Given the description of an element on the screen output the (x, y) to click on. 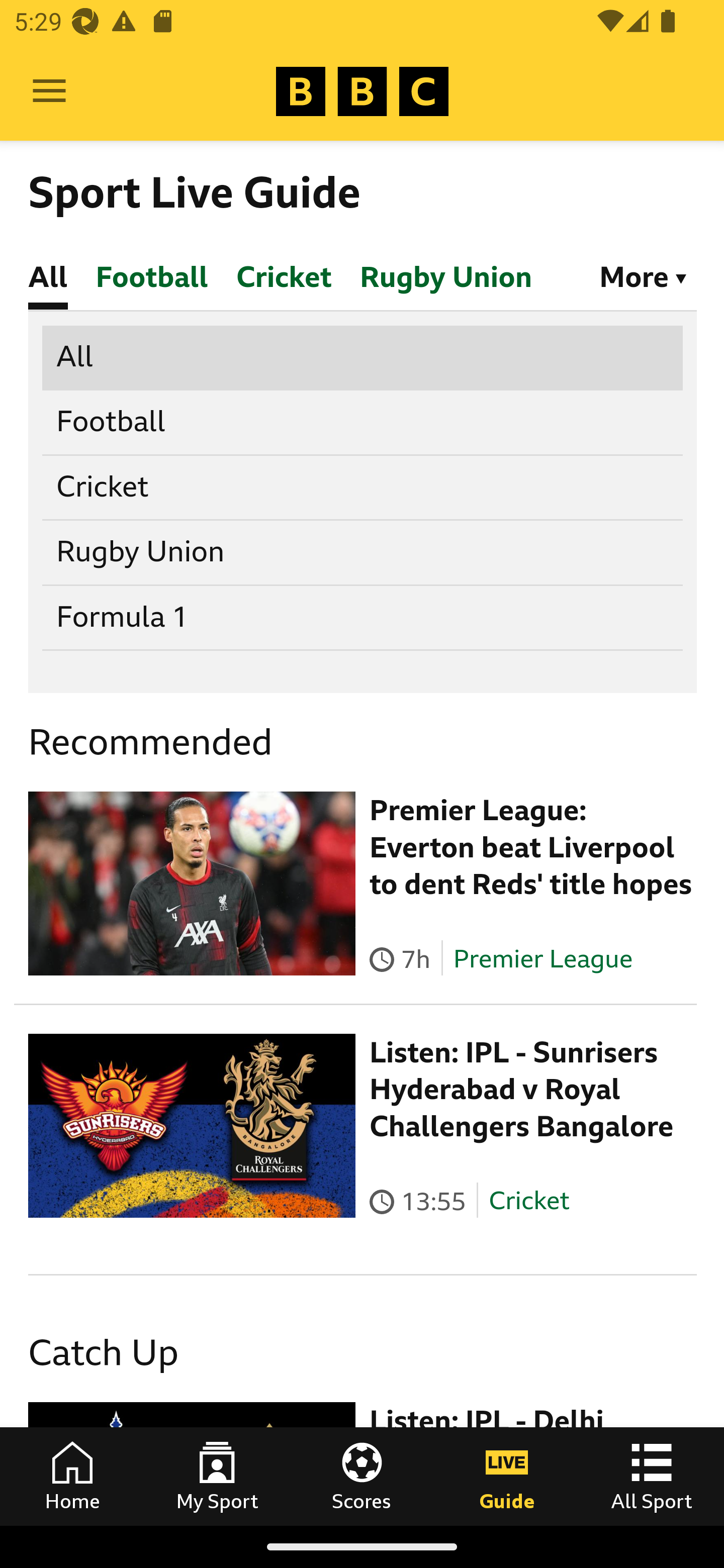
Open Menu (49, 91)
All (362, 356)
Football (362, 422)
Cricket (362, 486)
Rugby Union (362, 552)
Formula 1 (362, 616)
Premier League (542, 957)
Cricket (528, 1200)
Home (72, 1475)
My Sport (216, 1475)
Scores (361, 1475)
All Sport (651, 1475)
